Given the description of an element on the screen output the (x, y) to click on. 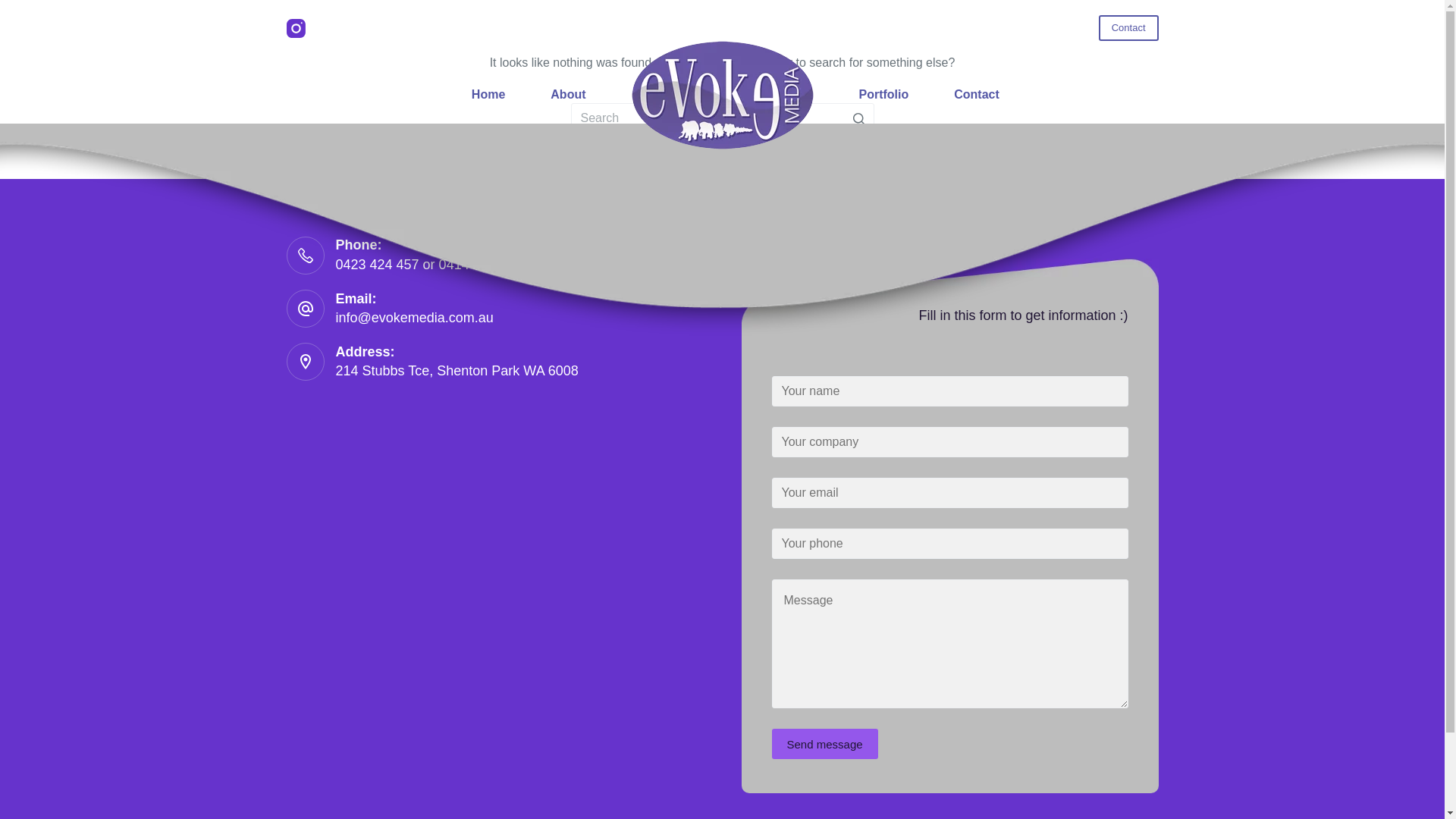
Home Element type: text (487, 94)
Contact Element type: text (1128, 27)
Search for... Element type: hover (721, 118)
About Element type: text (567, 94)
Send message Element type: text (824, 743)
Skip to content Element type: text (15, 7)
Contact Element type: text (976, 94)
Portfolio Element type: text (883, 94)
info@evokemedia.com.au Element type: text (413, 317)
